Given the description of an element on the screen output the (x, y) to click on. 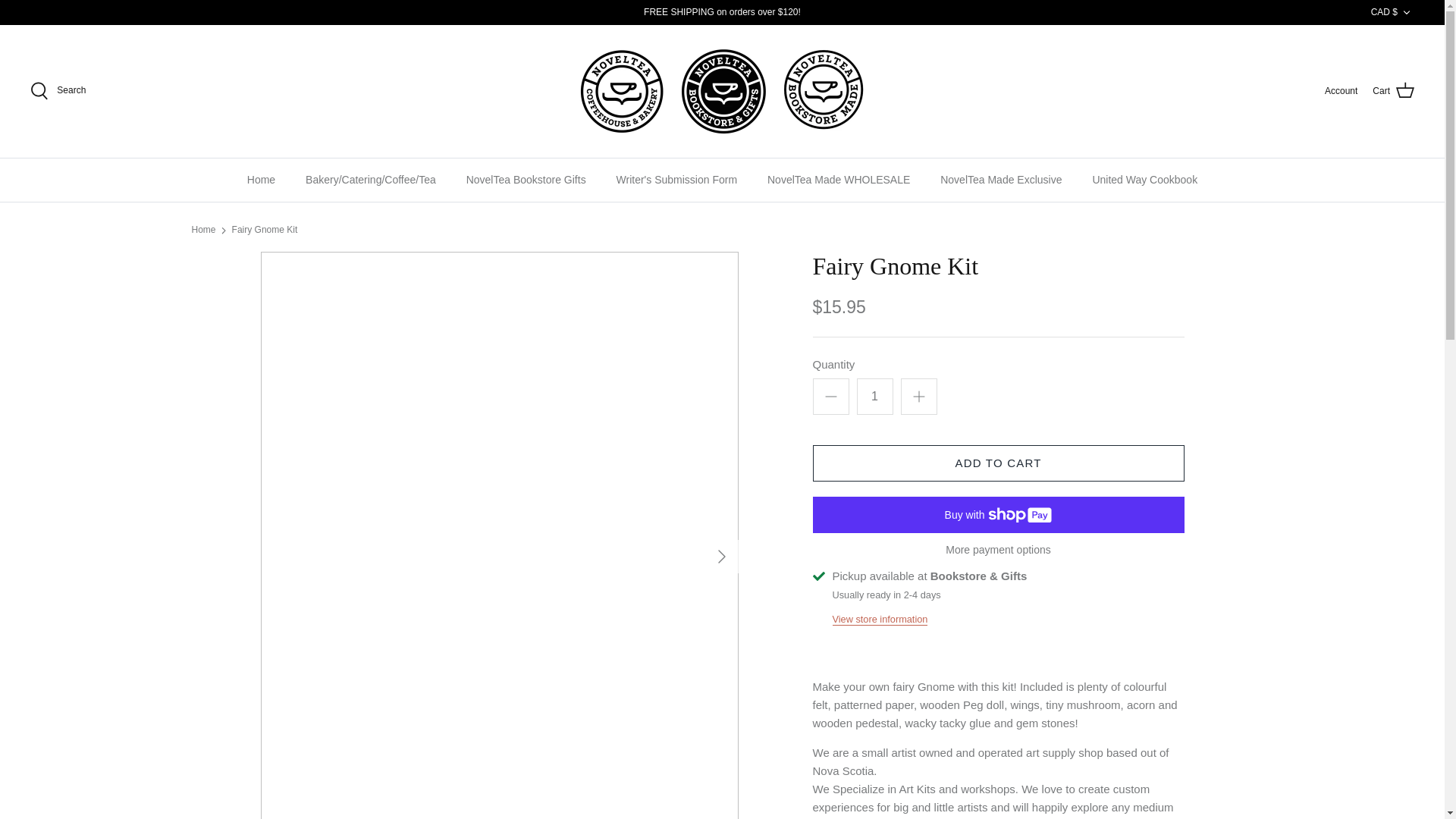
Plus (919, 396)
Minus (831, 396)
RIGHT (721, 556)
1 (875, 396)
NovelTea Bookstore Cafe (722, 91)
Home (260, 179)
Search (57, 90)
Account (1340, 91)
Cart (1393, 90)
Down (1406, 12)
